Given the description of an element on the screen output the (x, y) to click on. 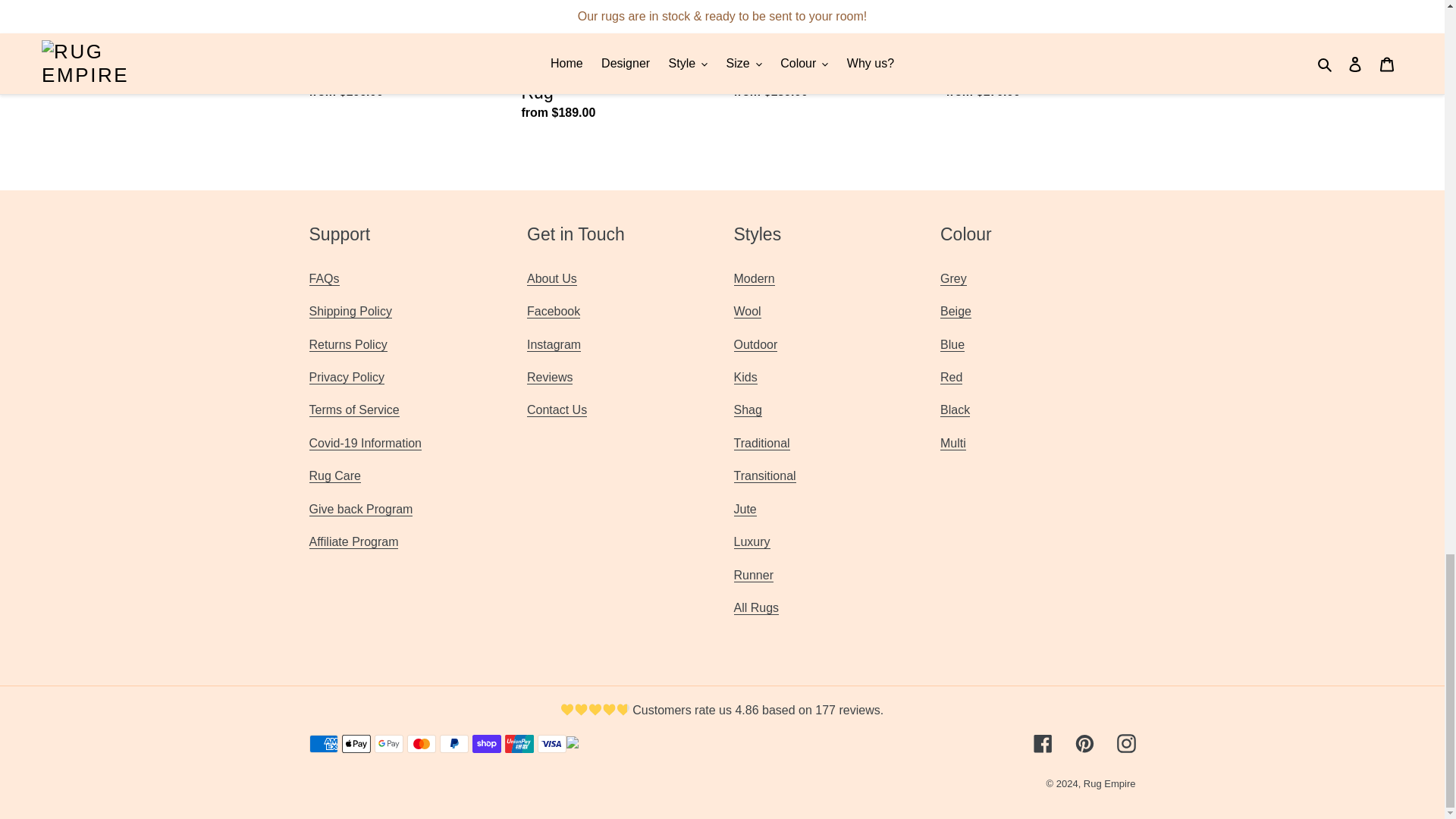
All Rugs (755, 608)
Noor Relief (360, 509)
COVID-19 (365, 443)
Why Rug Empire ? (551, 278)
Runner (753, 575)
Luxury Range (751, 541)
Contact Us (556, 409)
Transitional (764, 476)
SHIPPING POLICY (349, 311)
Rug Reviews (549, 377)
Affiliate Program (353, 541)
RUG WASH AND CARE (334, 476)
